Given the description of an element on the screen output the (x, y) to click on. 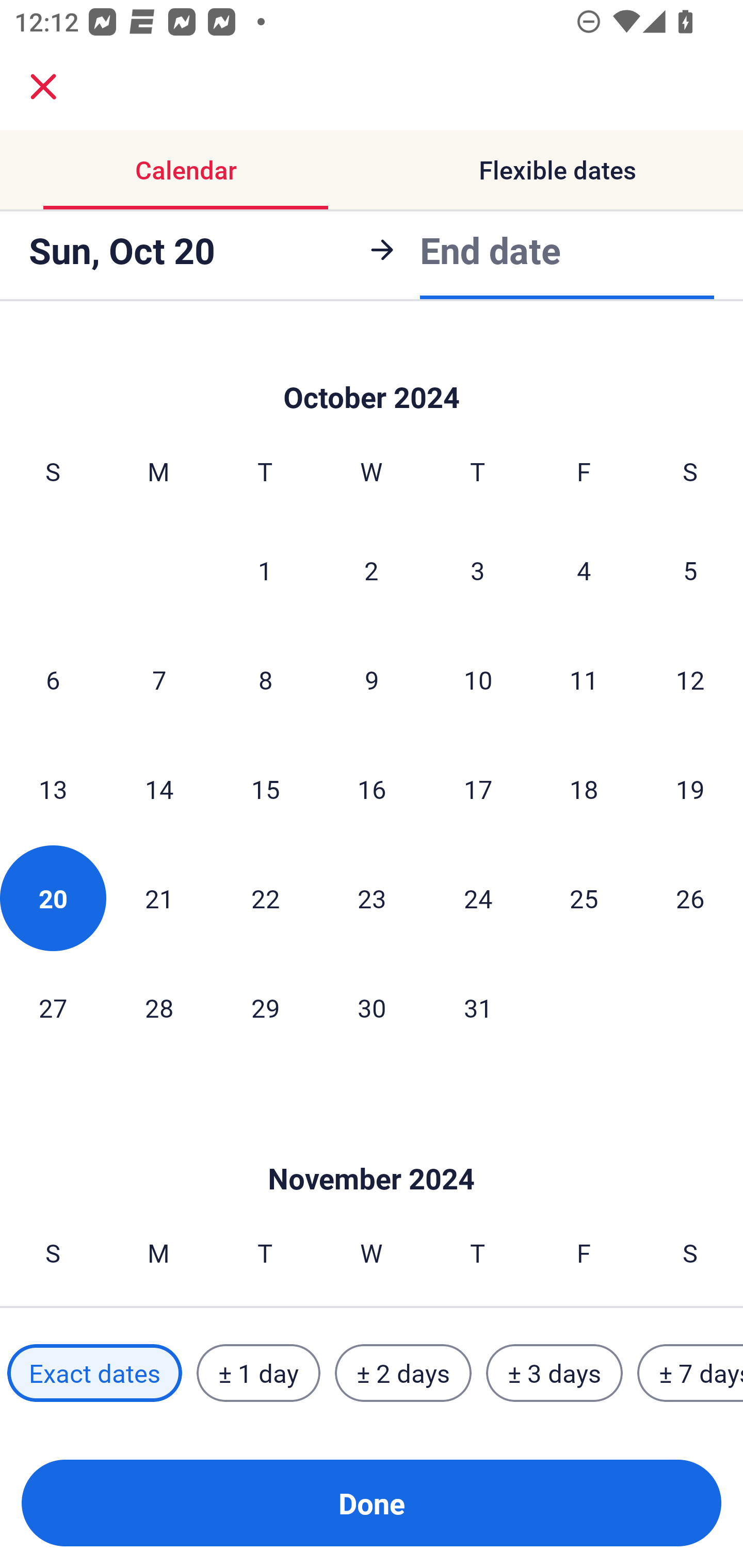
close. (43, 86)
Flexible dates (557, 170)
End date (489, 249)
Skip to Done (371, 370)
1 Tuesday, October 1, 2024 (264, 569)
2 Wednesday, October 2, 2024 (371, 569)
3 Thursday, October 3, 2024 (477, 569)
4 Friday, October 4, 2024 (584, 569)
5 Saturday, October 5, 2024 (690, 569)
6 Sunday, October 6, 2024 (53, 679)
7 Monday, October 7, 2024 (159, 679)
8 Tuesday, October 8, 2024 (265, 679)
9 Wednesday, October 9, 2024 (371, 679)
10 Thursday, October 10, 2024 (477, 679)
11 Friday, October 11, 2024 (584, 679)
12 Saturday, October 12, 2024 (690, 679)
13 Sunday, October 13, 2024 (53, 788)
14 Monday, October 14, 2024 (159, 788)
15 Tuesday, October 15, 2024 (265, 788)
16 Wednesday, October 16, 2024 (371, 788)
17 Thursday, October 17, 2024 (477, 788)
18 Friday, October 18, 2024 (584, 788)
19 Saturday, October 19, 2024 (690, 788)
21 Monday, October 21, 2024 (159, 898)
22 Tuesday, October 22, 2024 (265, 898)
23 Wednesday, October 23, 2024 (371, 898)
24 Thursday, October 24, 2024 (477, 898)
25 Friday, October 25, 2024 (584, 898)
26 Saturday, October 26, 2024 (690, 898)
27 Sunday, October 27, 2024 (53, 1006)
28 Monday, October 28, 2024 (159, 1006)
29 Tuesday, October 29, 2024 (265, 1006)
30 Wednesday, October 30, 2024 (371, 1006)
31 Thursday, October 31, 2024 (477, 1006)
Skip to Done (371, 1148)
Exact dates (94, 1372)
± 1 day (258, 1372)
± 2 days (403, 1372)
± 3 days (553, 1372)
± 7 days (690, 1372)
Done (371, 1502)
